Given the description of an element on the screen output the (x, y) to click on. 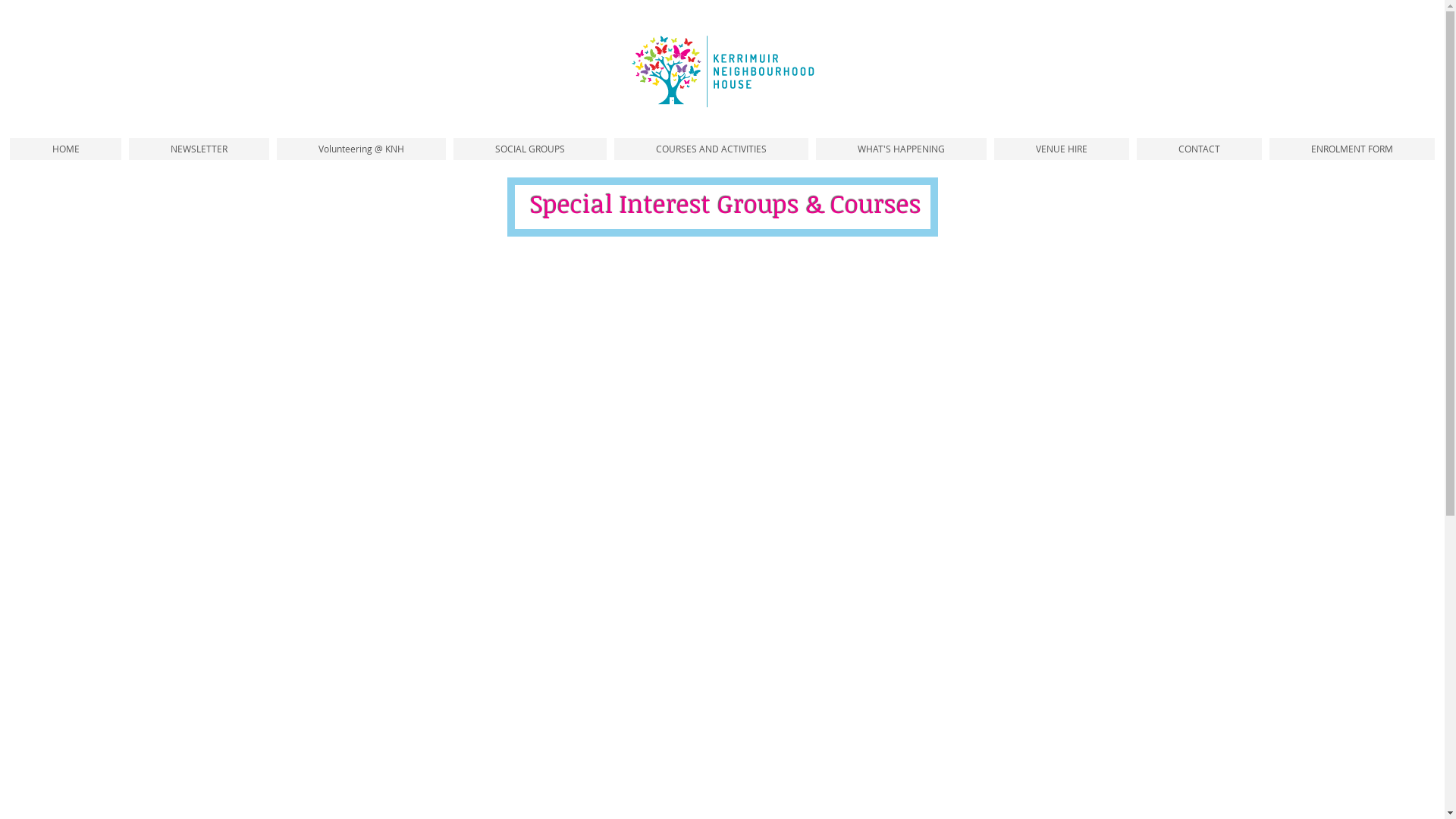
ENROLMENT FORM Element type: text (1351, 149)
SOCIAL GROUPS Element type: text (529, 149)
WHAT'S HAPPENING Element type: text (900, 149)
VENUE HIRE Element type: text (1061, 149)
CONTACT Element type: text (1198, 149)
COURSES AND ACTIVITIES Element type: text (711, 149)
Volunteering @ KNH Element type: text (360, 149)
NEWSLETTER Element type: text (198, 149)
HOME Element type: text (65, 149)
